Given the description of an element on the screen output the (x, y) to click on. 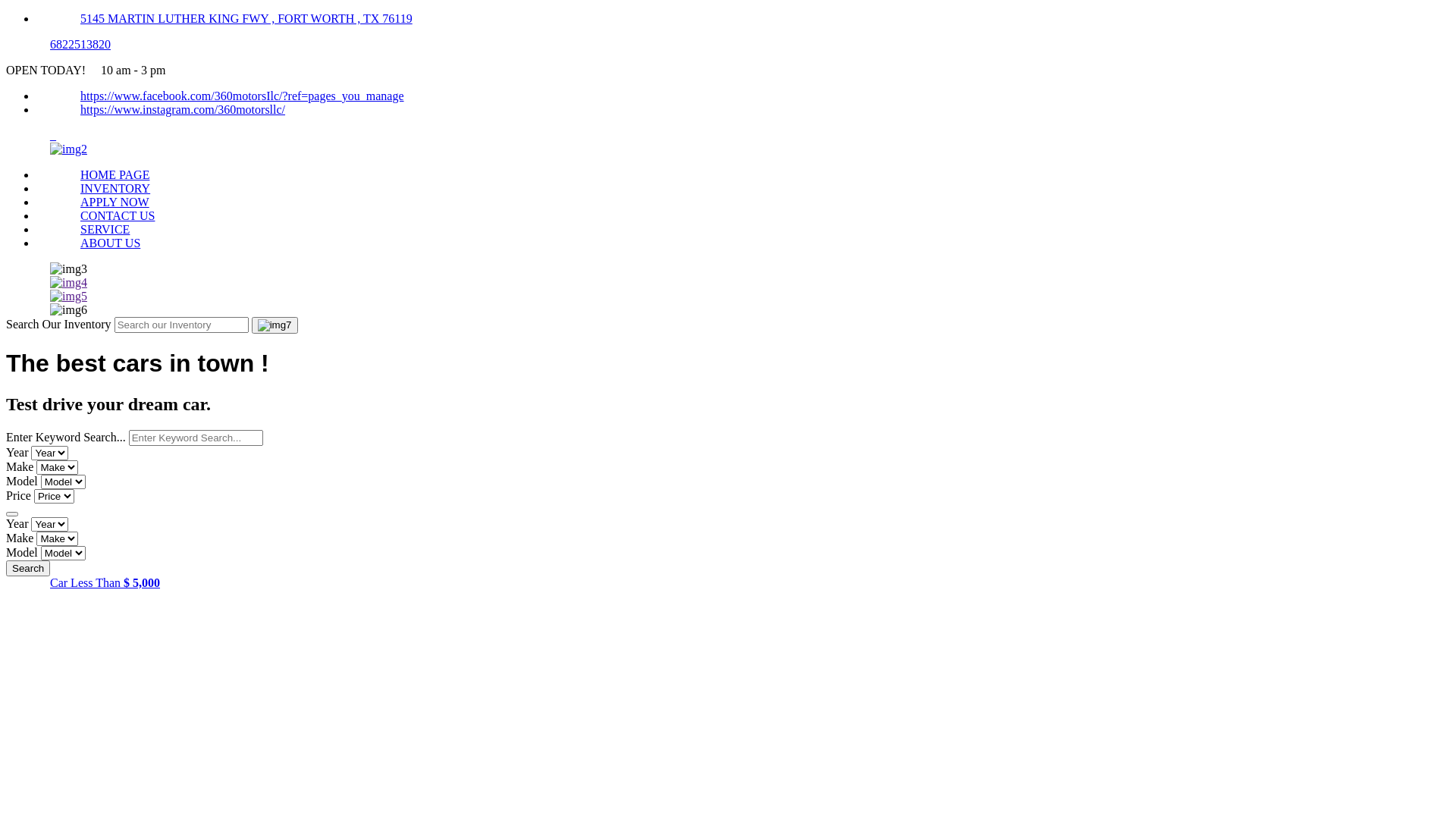
Home Element type: hover (68, 148)
https://www.instagram.com/360motorsllc/ Element type: text (182, 109)
_ Element type: text (53, 135)
Car Less Than $ 5,000 Element type: text (104, 582)
CONTACT US Element type: text (117, 215)
Search Element type: text (28, 568)
https://www.facebook.com/360motorsIlc/?ref=pages_you_manage Element type: text (242, 95)
APPLY NOW Element type: text (114, 201)
ABOUT US Element type: text (110, 242)
SERVICE Element type: text (104, 229)
HOME PAGE Element type: text (114, 174)
6822513820 Element type: text (80, 44)
INVENTORY Element type: text (115, 188)
